Given the description of an element on the screen output the (x, y) to click on. 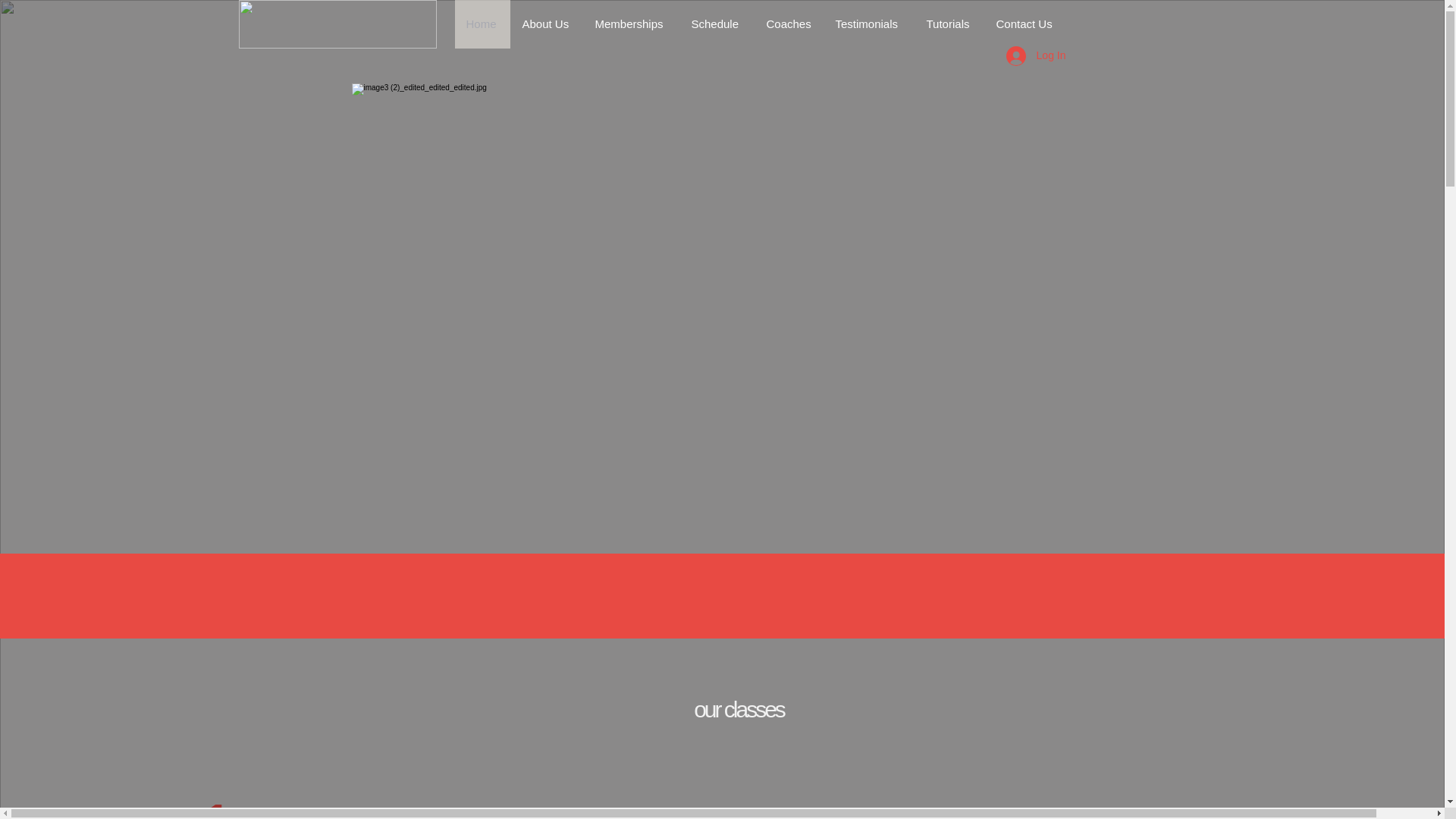
Testimonials (869, 24)
Schedule (716, 24)
Contact Us (1025, 24)
Log In (1036, 54)
About Us (545, 24)
Home (482, 24)
Tutorials (949, 24)
Coaches (788, 24)
